Given the description of an element on the screen output the (x, y) to click on. 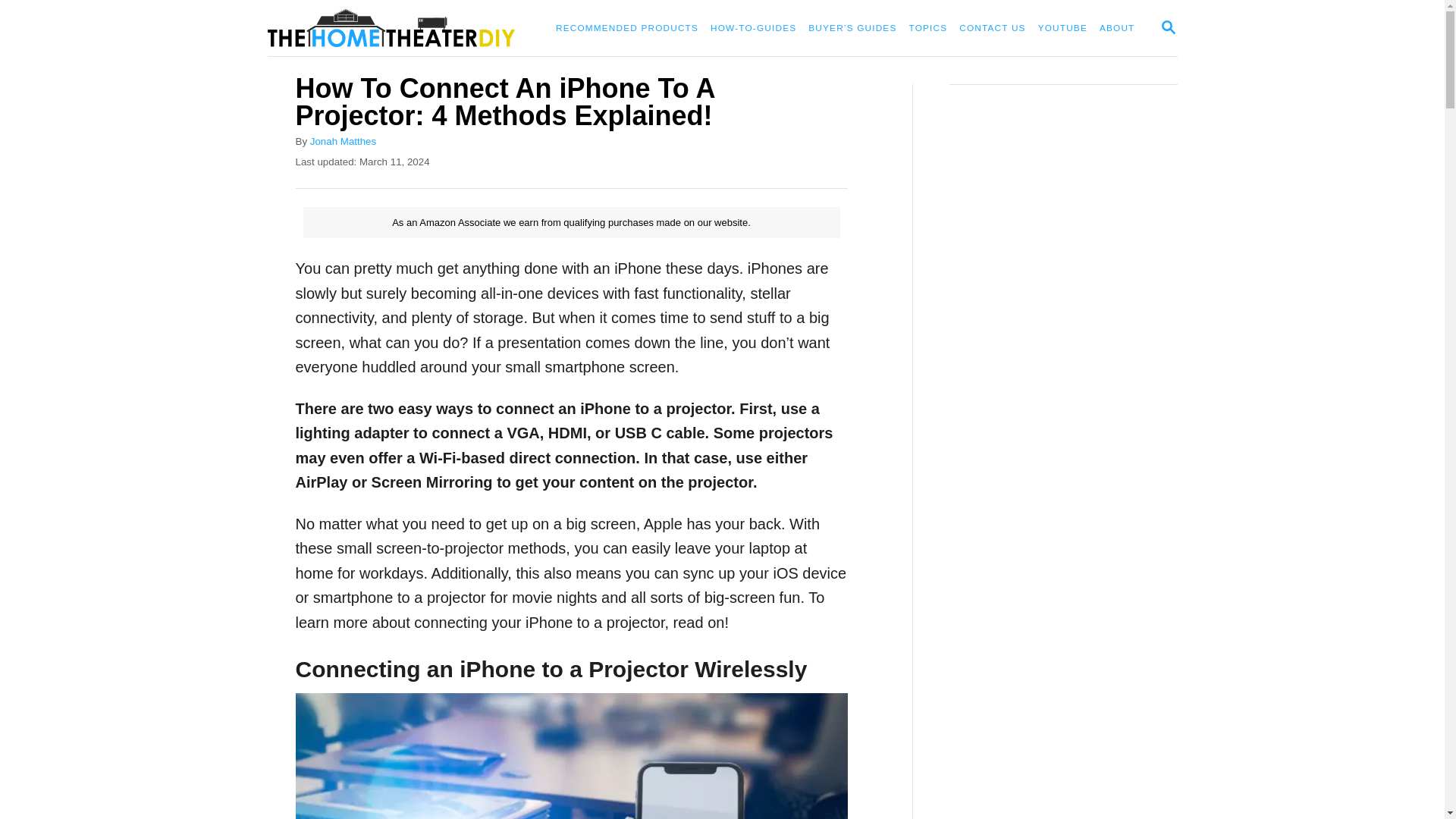
TOPICS (927, 28)
MAGNIFYING GLASS (1167, 27)
YOUTUBE (1062, 28)
The Home Theater DIY (397, 28)
CONTACT US (991, 28)
RECOMMENDED PRODUCTS (1167, 28)
HOW-TO-GUIDES (627, 28)
